Given the description of an element on the screen output the (x, y) to click on. 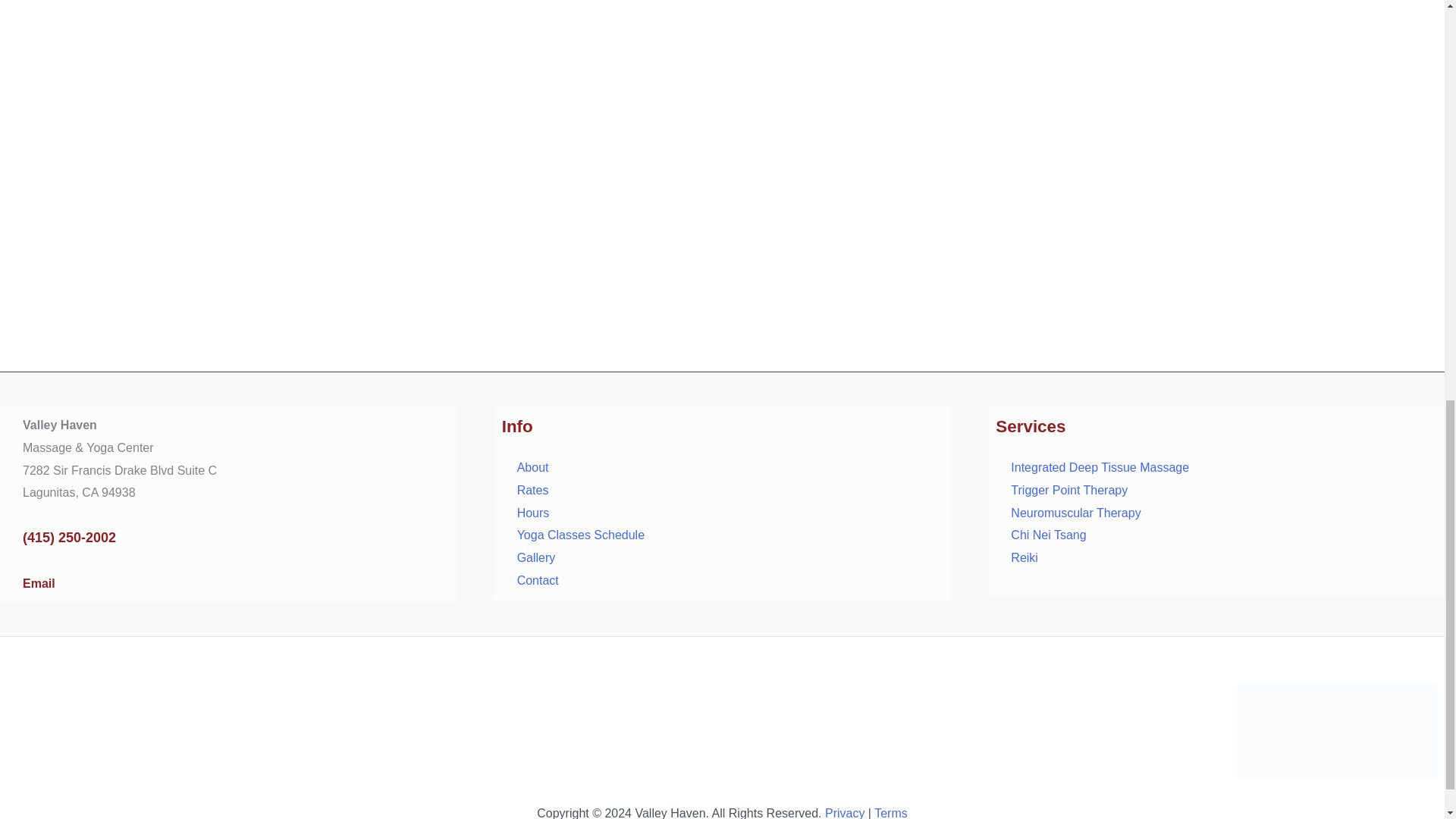
Neuromuscular Therapy (1075, 512)
Reiki (1024, 557)
Yoga Classes Schedule (580, 534)
Gallery (536, 557)
Chi Nei Tsang (1048, 534)
About (532, 467)
Contact (537, 580)
Integrated Deep Tissue Massage (1099, 467)
Trigger Point Therapy (1068, 490)
Hours (533, 512)
Privacy (844, 812)
Rates (532, 490)
Email (39, 583)
